Given the description of an element on the screen output the (x, y) to click on. 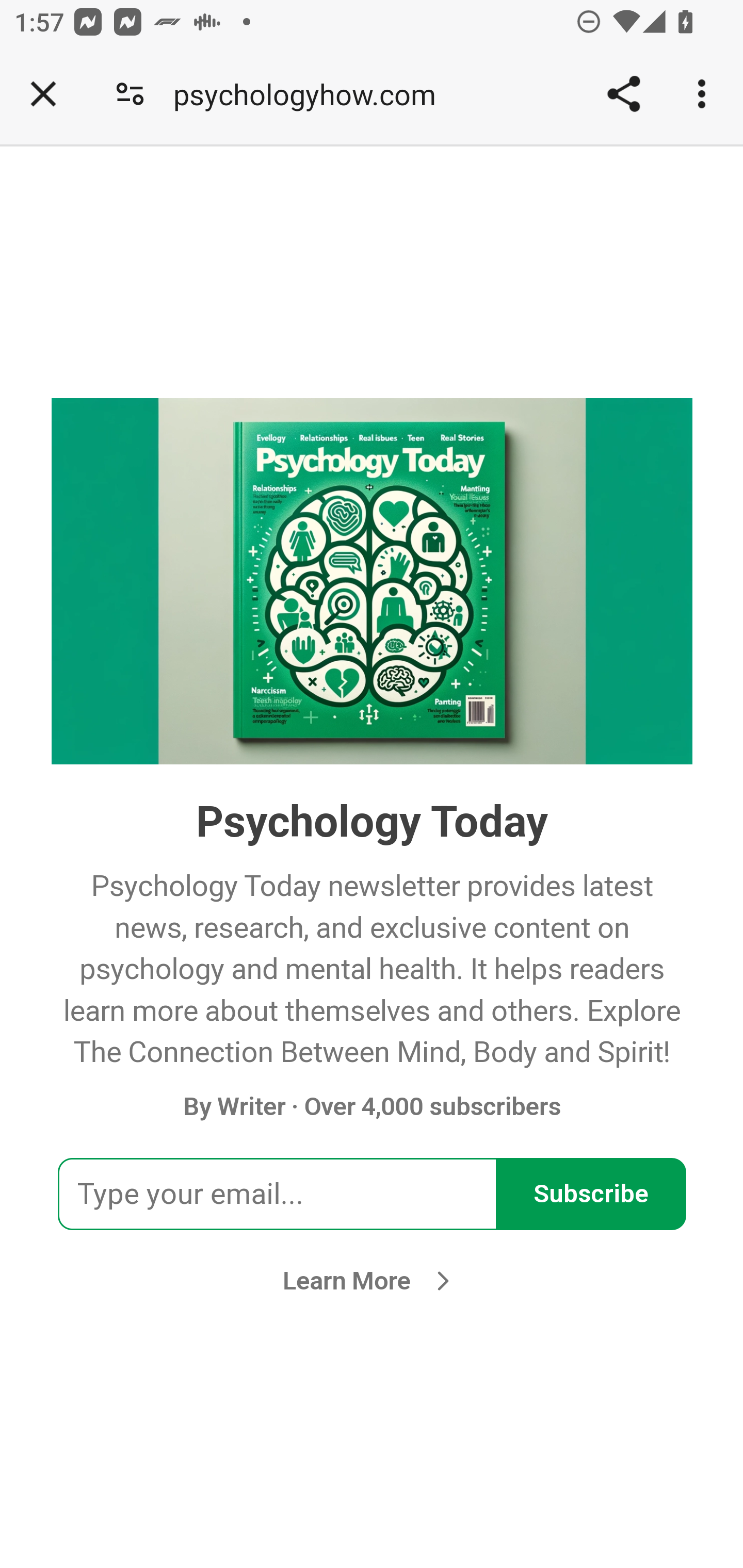
Close tab (43, 93)
Share (623, 93)
Customize and control Google Chrome (705, 93)
Connection is secure (129, 93)
psychologyhow.com (312, 93)
Subscribe (591, 1193)
Learn More (371, 1280)
